Given the description of an element on the screen output the (x, y) to click on. 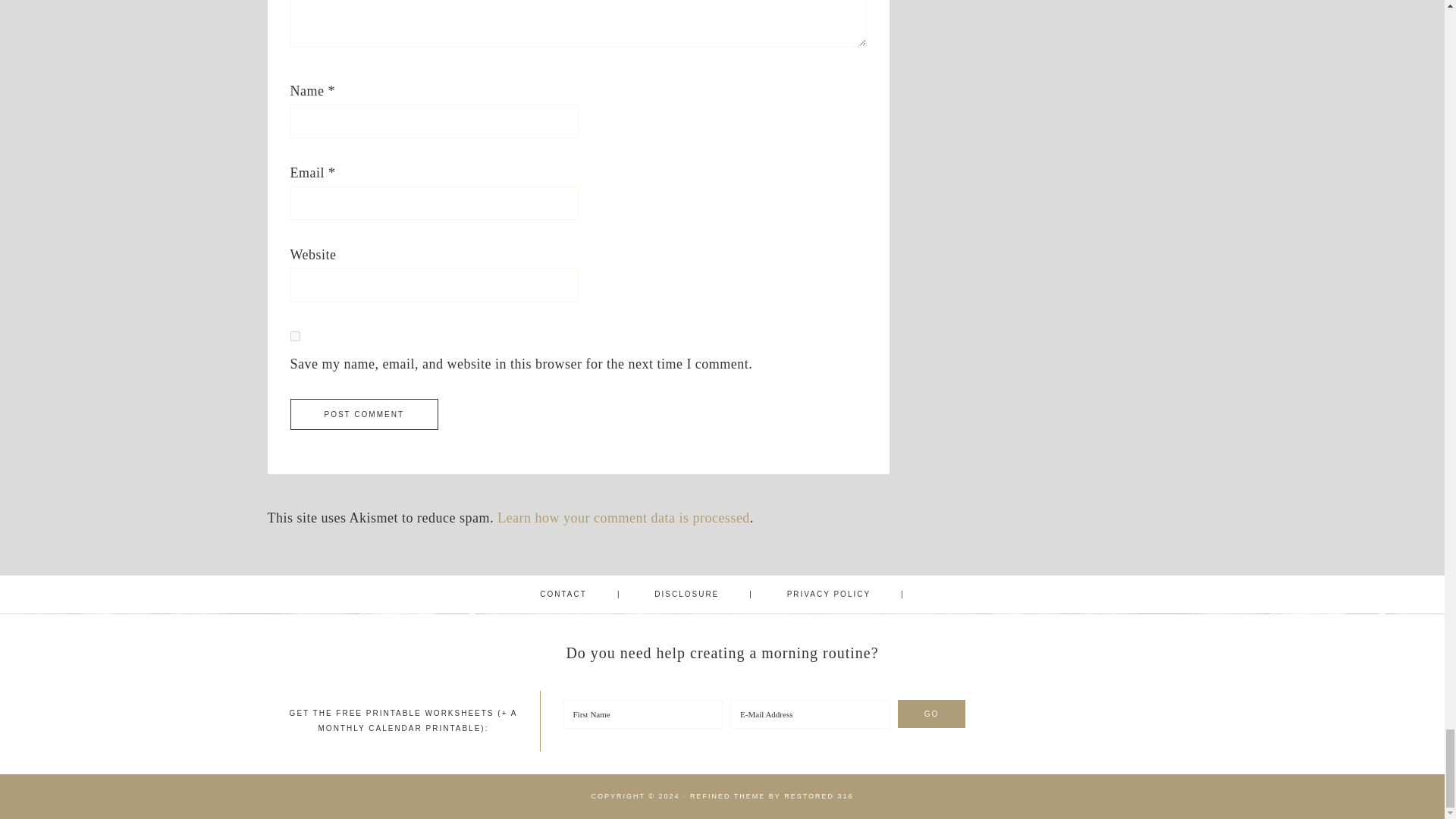
Post Comment (363, 413)
Go (932, 714)
yes (294, 336)
